Given the description of an element on the screen output the (x, y) to click on. 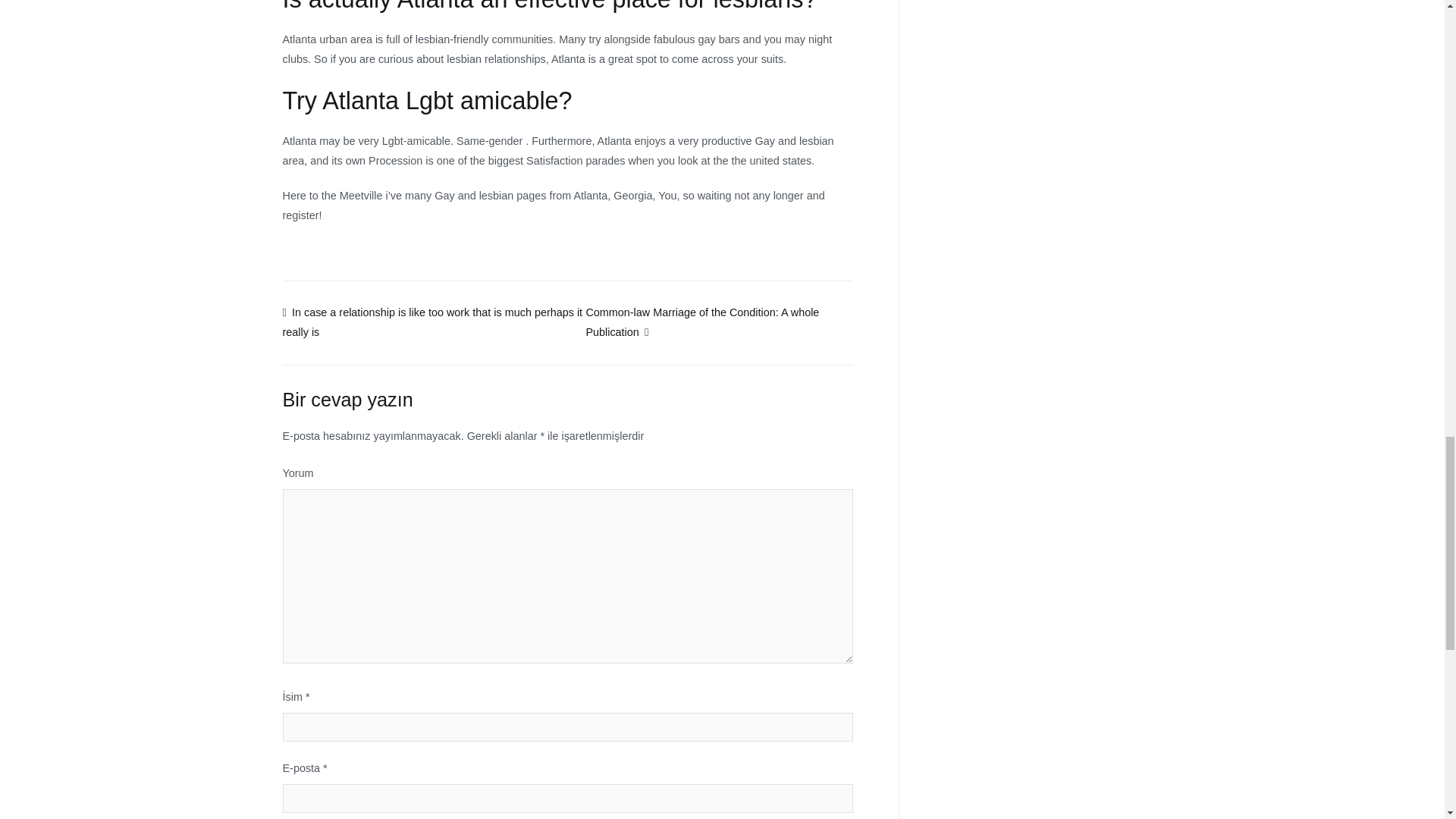
Common-law Marriage of the Condition: A whole Publication (701, 322)
